Given the description of an element on the screen output the (x, y) to click on. 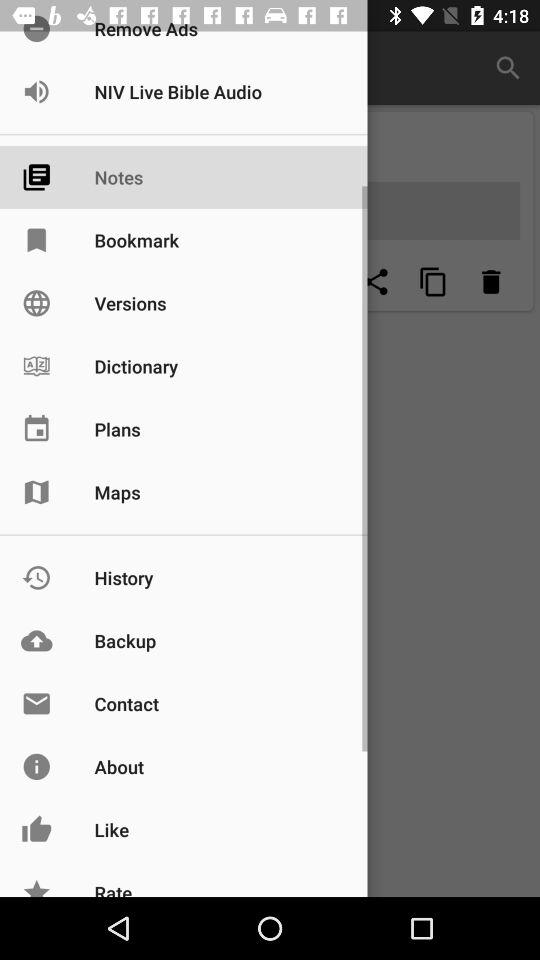
menu button (433, 281)
